Given the description of an element on the screen output the (x, y) to click on. 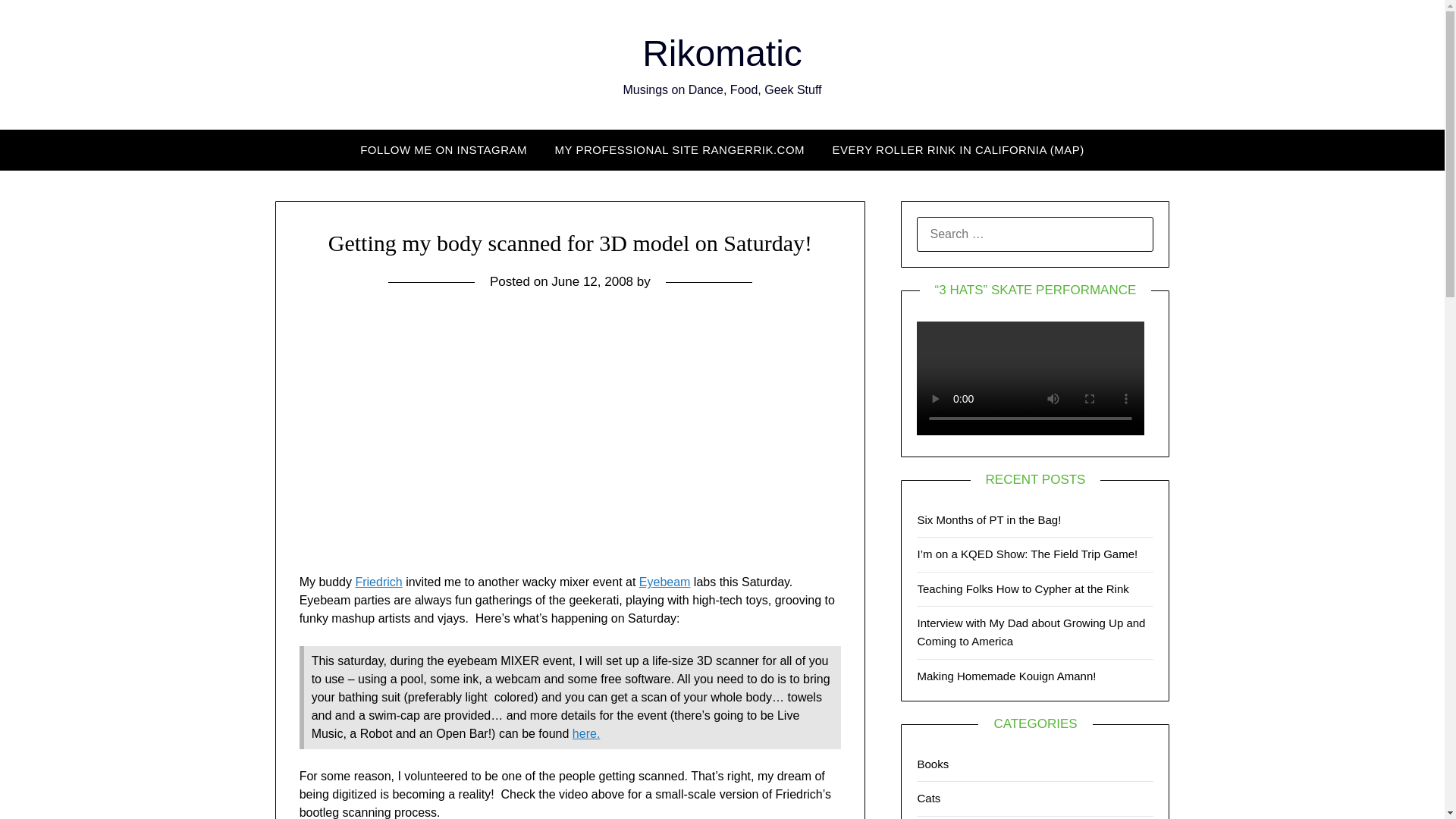
Cats (928, 797)
MY PROFESSIONAL SITE RANGERRIK.COM (679, 149)
Rikomatic (722, 53)
FOLLOW ME ON INSTAGRAM (442, 149)
June 12, 2008 (592, 281)
Search (38, 22)
Eyebeam (664, 581)
Teaching Folks How to Cypher at the Rink (1022, 588)
Friedrich (378, 581)
here. (585, 733)
